Given the description of an element on the screen output the (x, y) to click on. 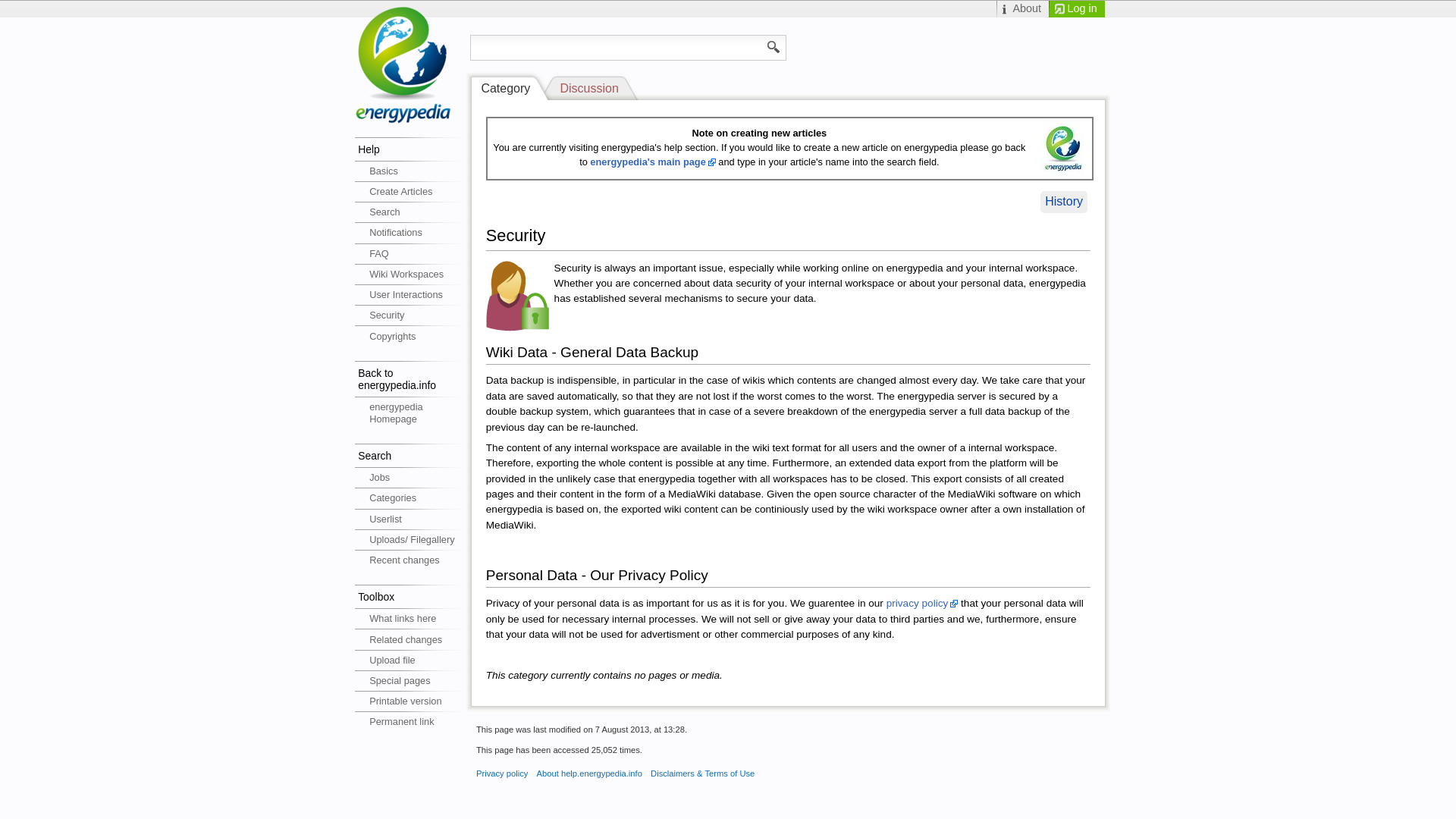
User Interactions (412, 294)
Copyrights (412, 335)
Notifications (412, 232)
Permanent link (412, 721)
What links here (412, 618)
energypedia Homepage (412, 413)
About (1022, 8)
Jobs (412, 477)
Categories (412, 497)
energypedia's main page (651, 161)
